Given the description of an element on the screen output the (x, y) to click on. 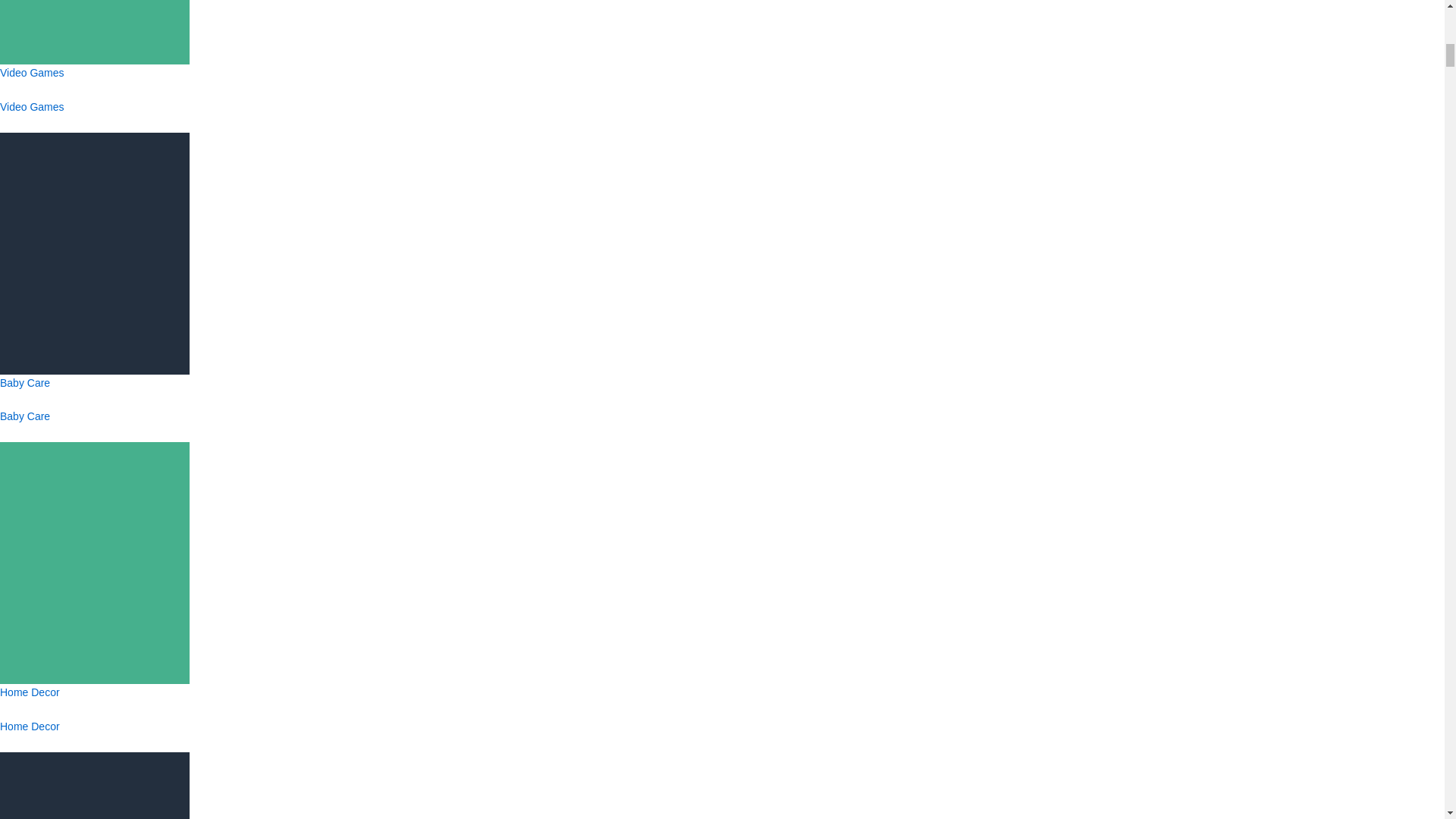
Video Games (94, 103)
